Given the description of an element on the screen output the (x, y) to click on. 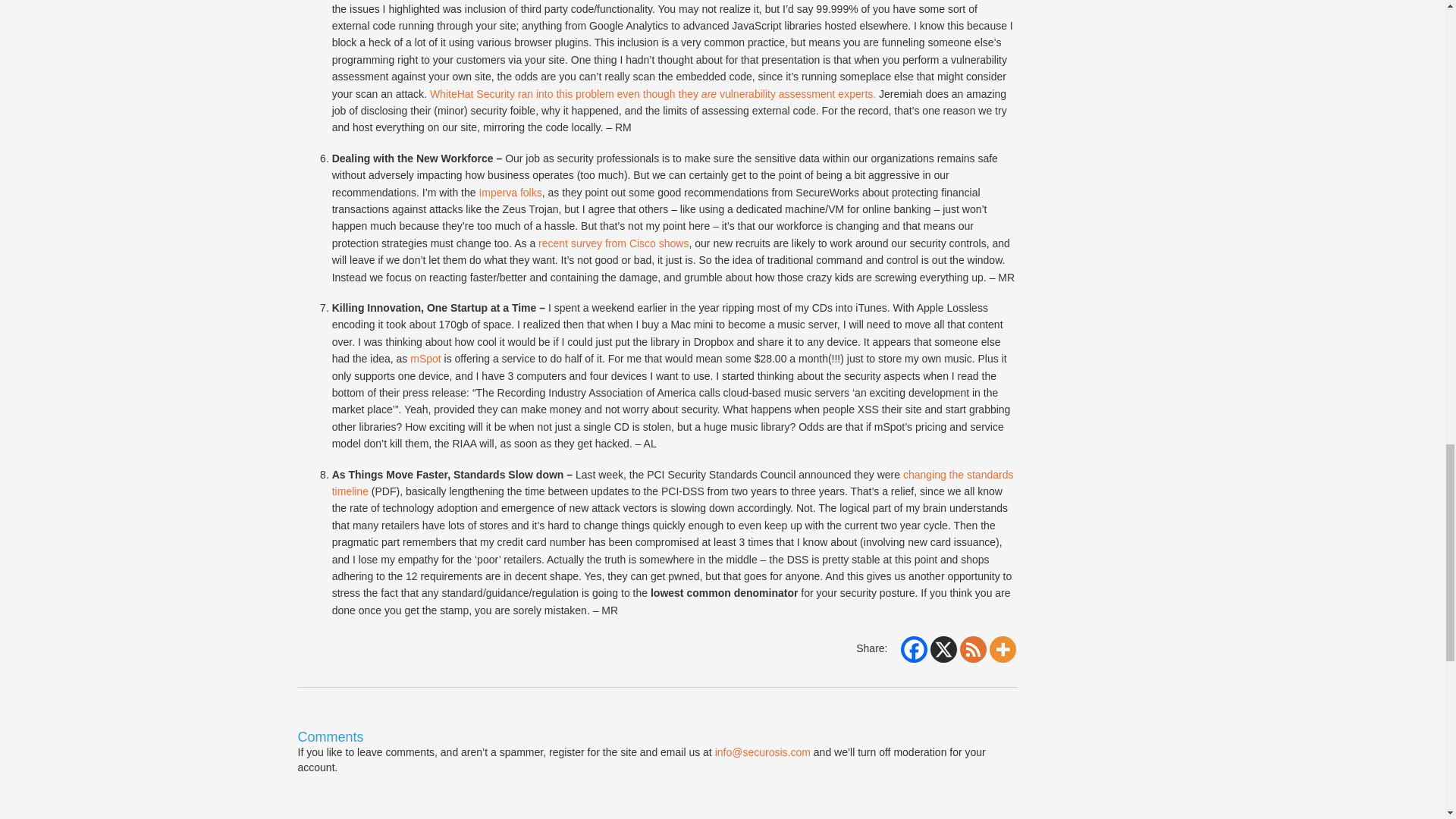
More (1001, 649)
recent survey from Cisco shows (613, 243)
RSS Feed (973, 649)
X (943, 649)
Imperva folks (510, 192)
Facebook (914, 649)
